Given the description of an element on the screen output the (x, y) to click on. 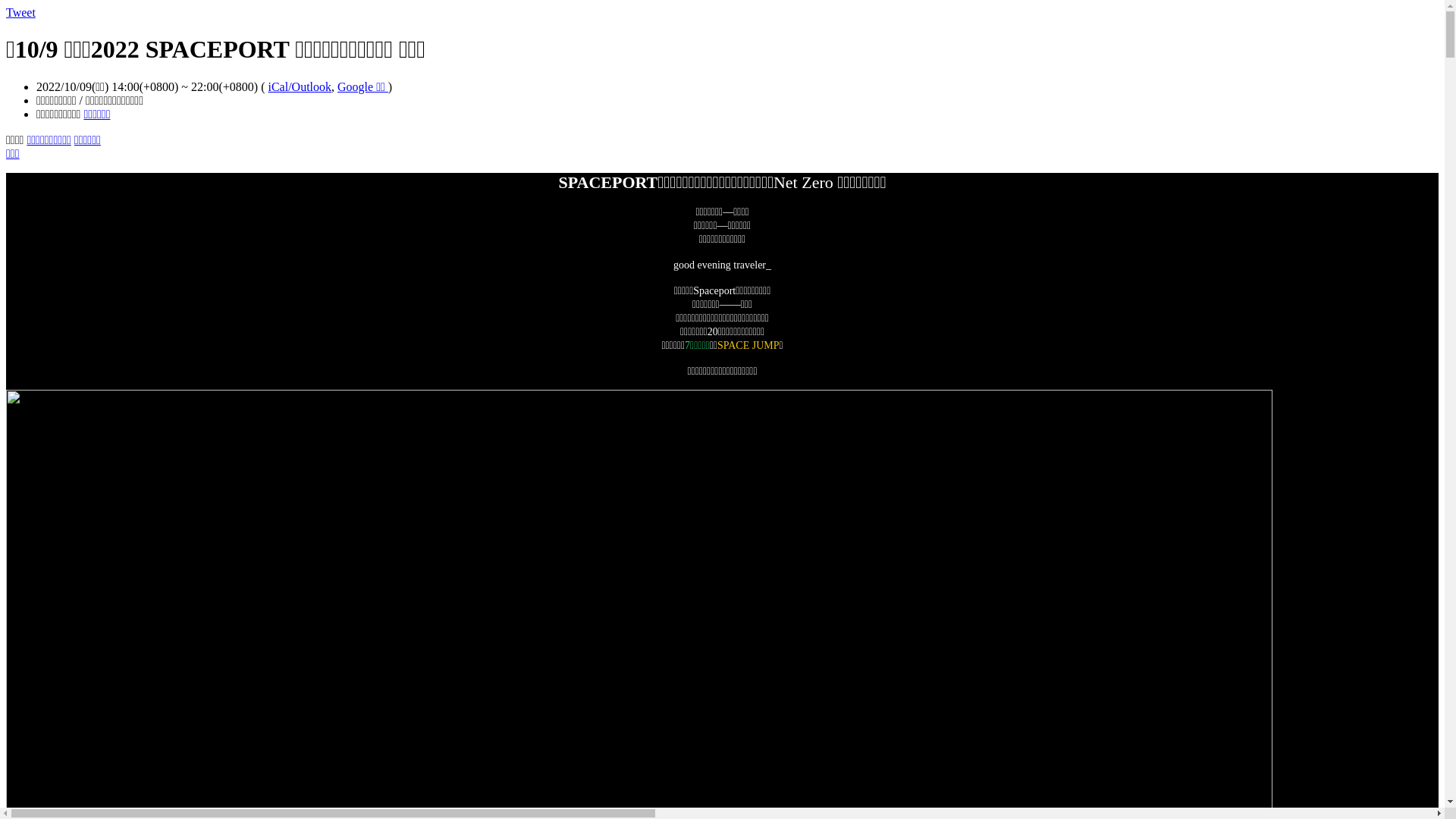
Tweet Element type: text (20, 12)
iCal/Outlook Element type: text (299, 86)
